Given the description of an element on the screen output the (x, y) to click on. 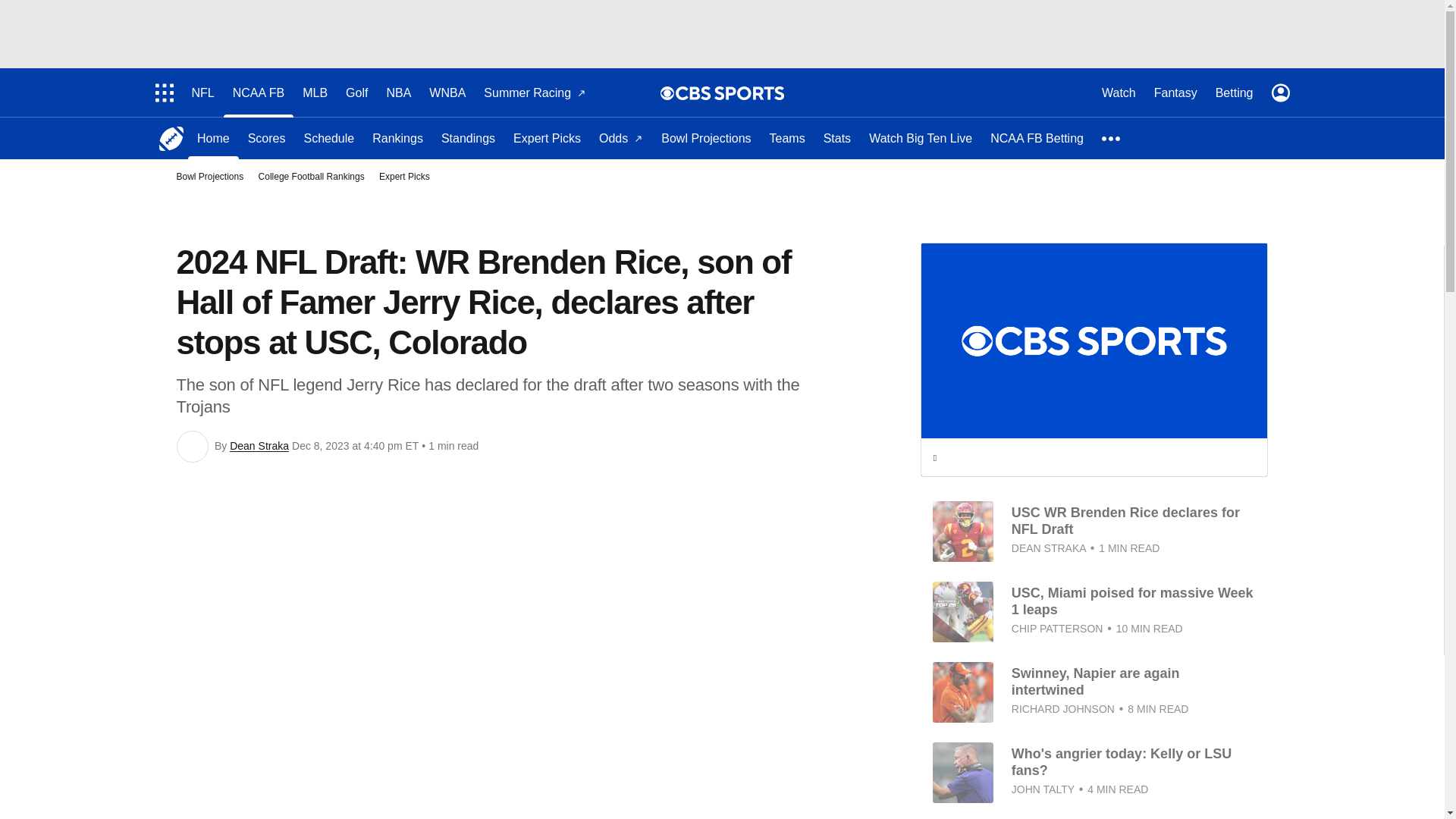
SportsNcaafb (170, 137)
CBS Eye (667, 92)
CBS Logo (729, 92)
